Given the description of an element on the screen output the (x, y) to click on. 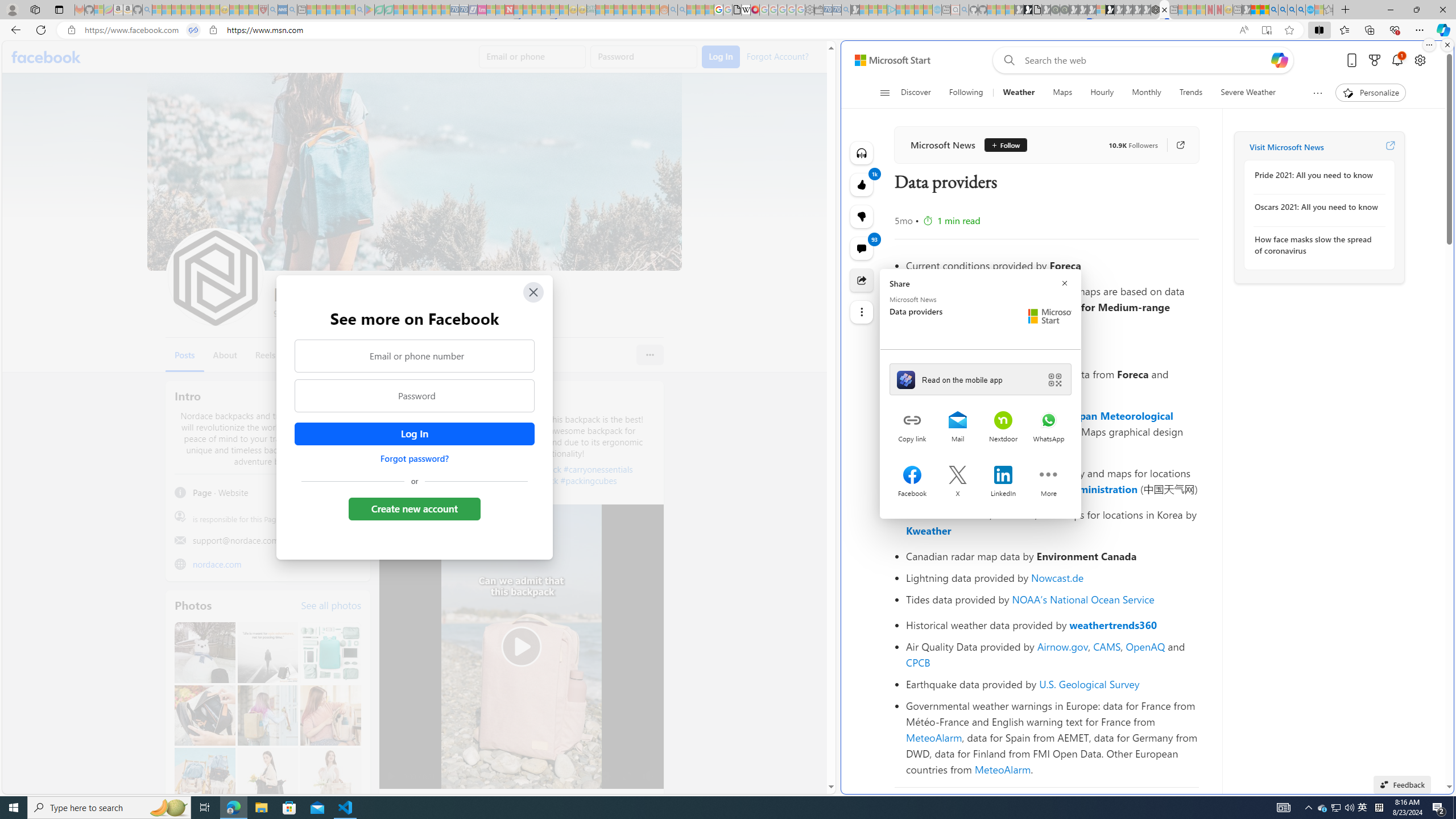
China Meteorological Administration (1048, 489)
Japan Meteorological Agency (1039, 423)
Share on LinkedIn (1002, 476)
More options. (1428, 45)
Microsoft News (942, 144)
Close split screen. (1447, 45)
Severe Weather (1247, 92)
